Given the description of an element on the screen output the (x, y) to click on. 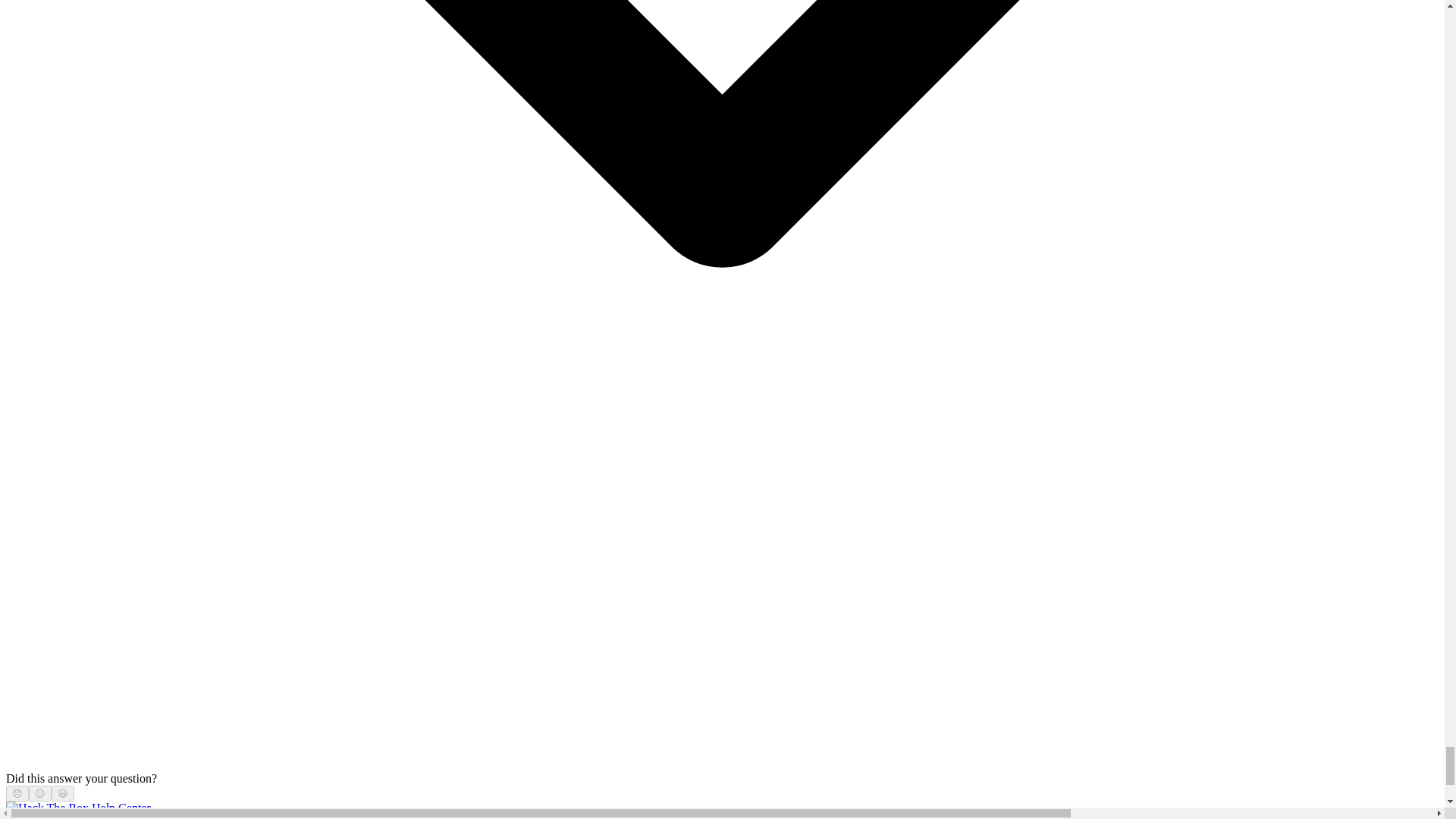
Disappointed (17, 793)
Smiley (63, 793)
Neutral (39, 793)
